Given the description of an element on the screen output the (x, y) to click on. 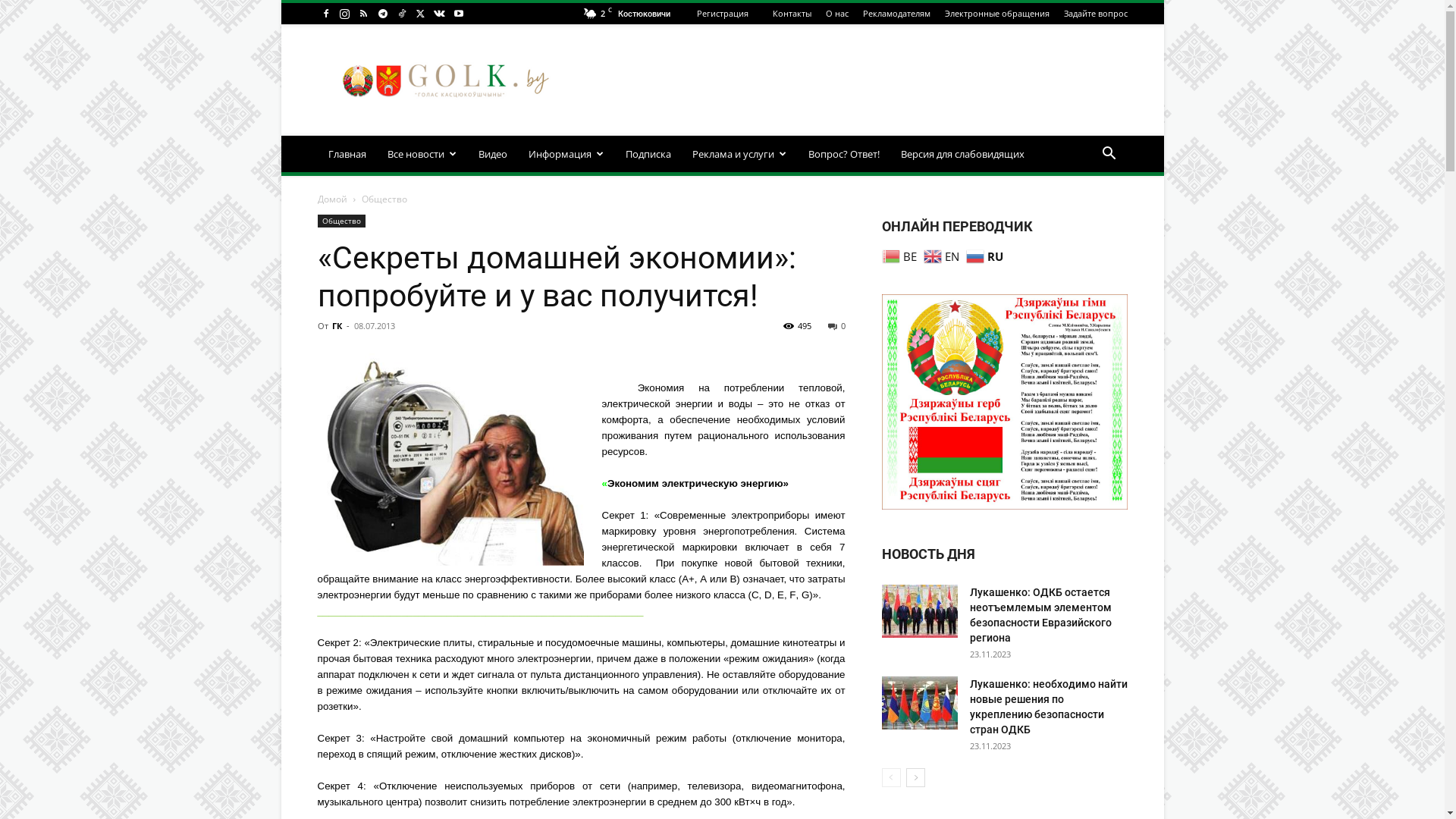
Telegram Element type: hover (382, 13)
TikTok Element type: hover (400, 13)
Instagram Element type: hover (344, 13)
BE Element type: text (900, 254)
VKontakte Element type: hover (438, 13)
EN Element type: text (943, 254)
RU Element type: text (986, 254)
RSS Element type: hover (362, 13)
Facebook Element type: hover (324, 13)
0 Element type: text (836, 325)
Youtube Element type: hover (458, 13)
Twitter Element type: hover (420, 13)
